Given the description of an element on the screen output the (x, y) to click on. 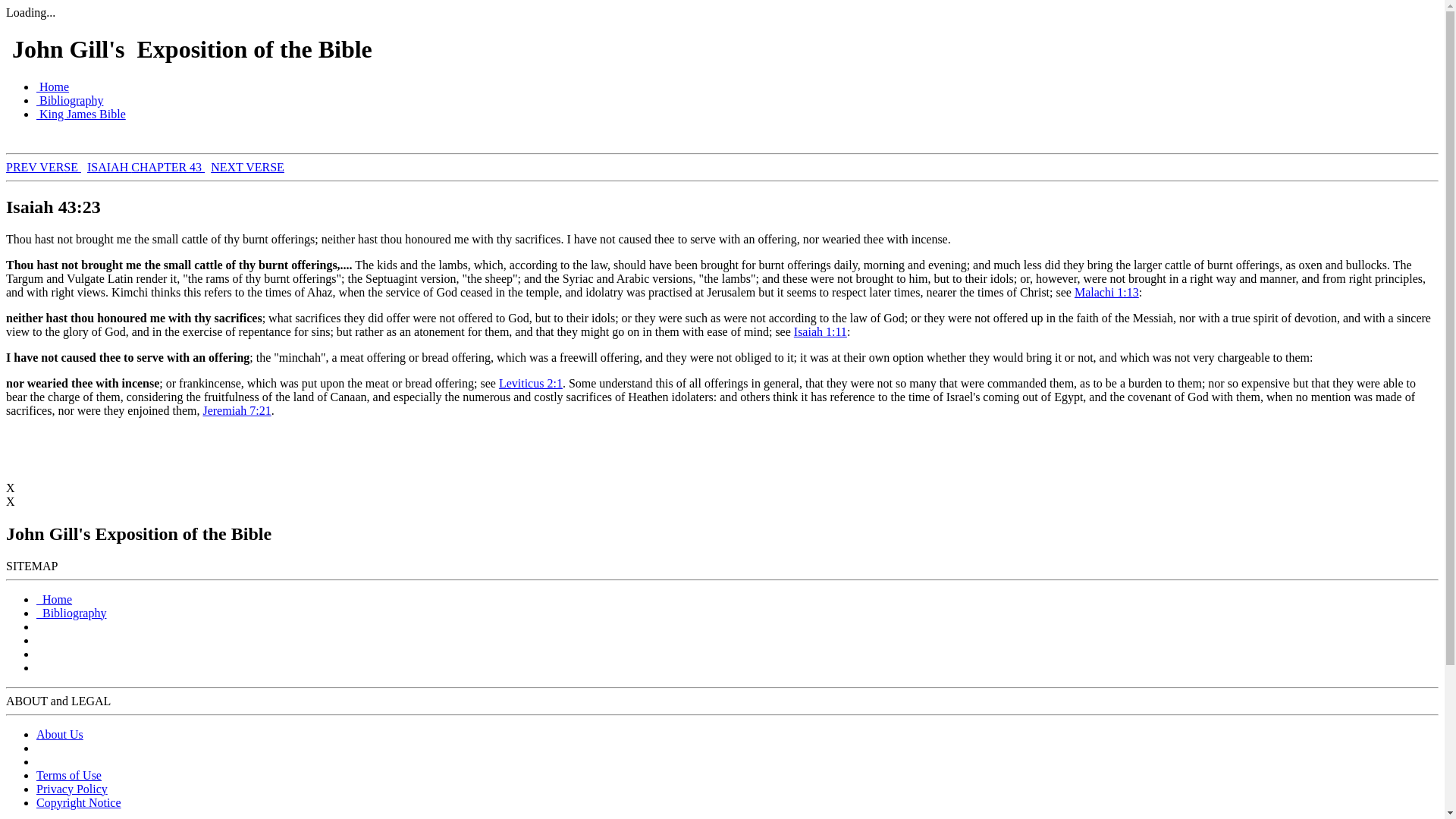
 Home (52, 86)
Copyright Notice (78, 802)
  Bibliography (71, 612)
About Us (59, 734)
 Bibliography (69, 100)
ISAIAH (109, 166)
Leviticus 2:1 (530, 382)
CHAPTER 43 (168, 166)
NEXT VERSE (247, 166)
  Home (53, 599)
Jeremiah 7:21 (236, 410)
Malachi 1:13 (1106, 291)
 King James Bible (80, 113)
Isaiah 1:11 (820, 331)
PREV VERSE (43, 166)
